Given the description of an element on the screen output the (x, y) to click on. 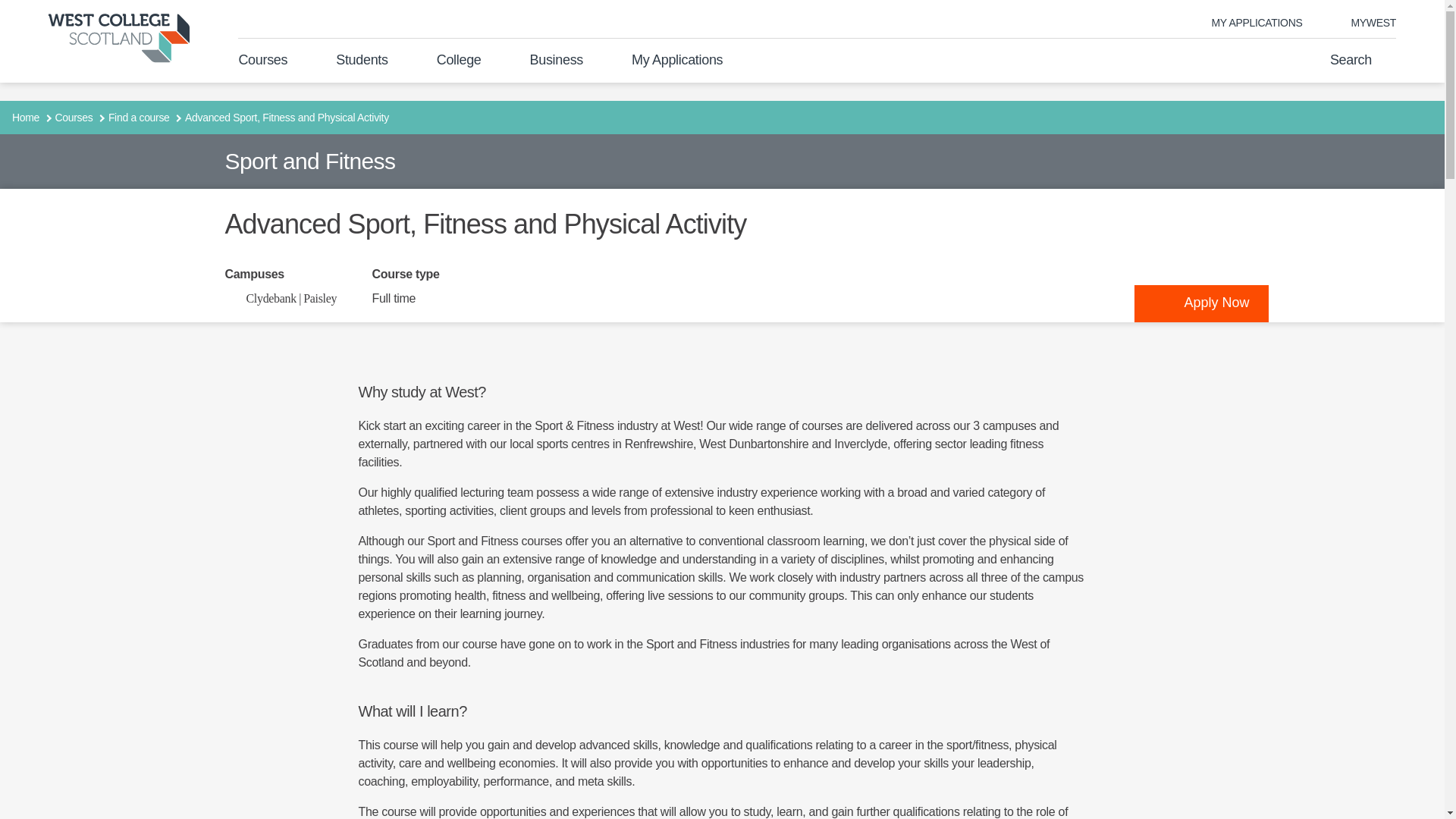
MY APPLICATIONS (1257, 22)
Students (362, 59)
Courses (262, 59)
MYWEST (1361, 22)
